Given the description of an element on the screen output the (x, y) to click on. 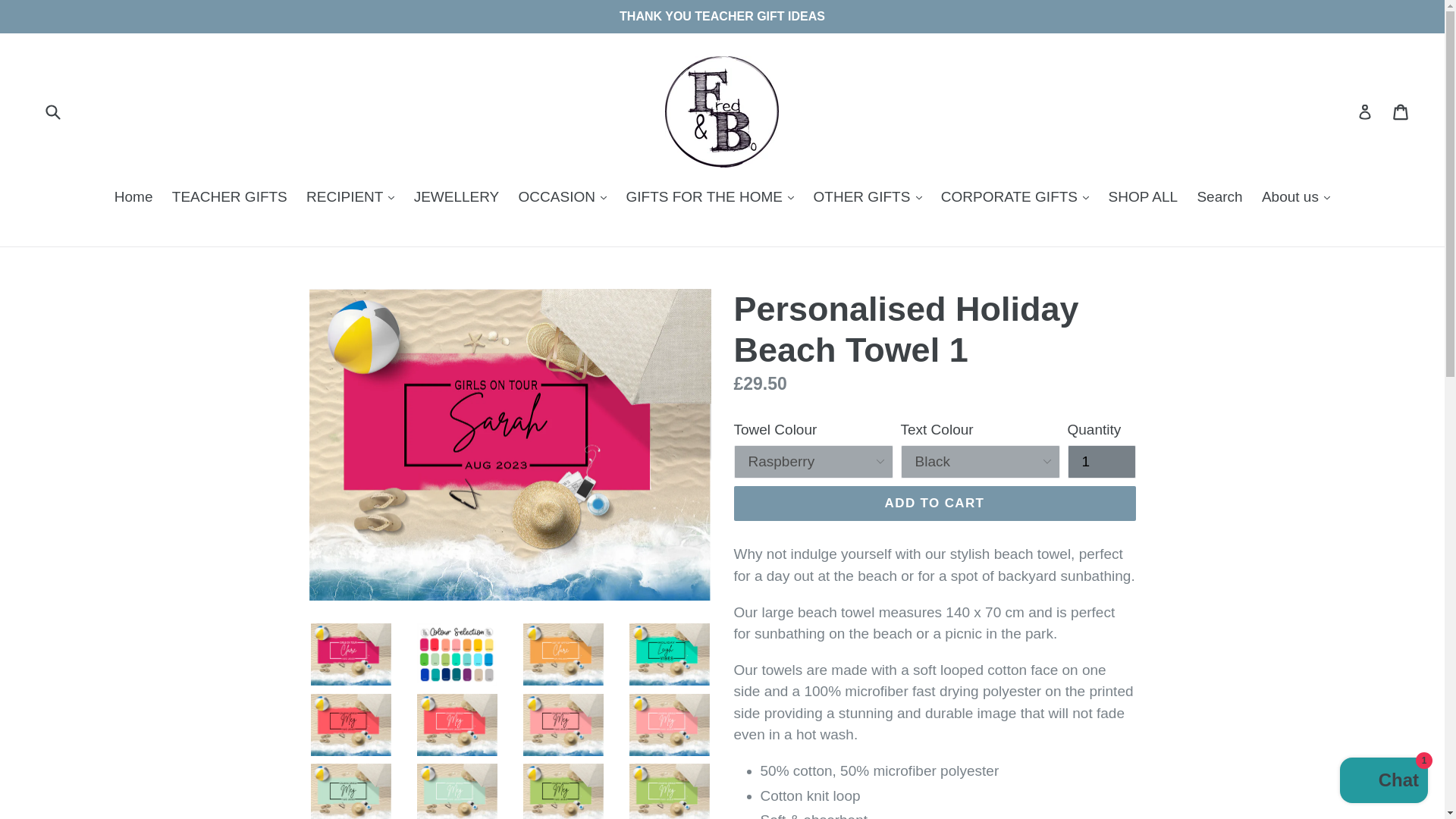
Shopify online store chat (1383, 781)
1 (1101, 461)
